Given the description of an element on the screen output the (x, y) to click on. 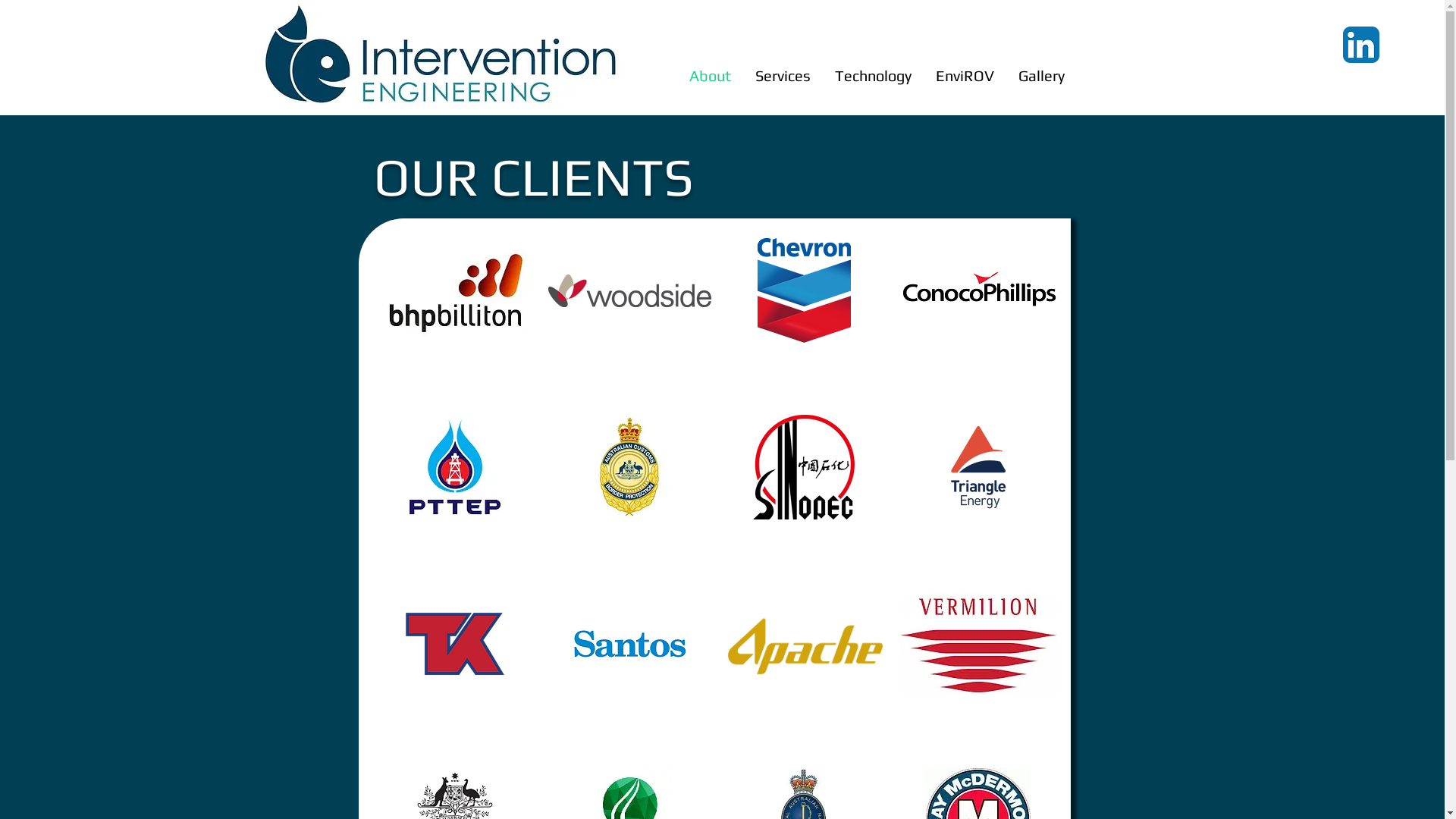
About Element type: text (709, 74)
Technology Element type: text (872, 74)
IE Logo.jpg Element type: hover (436, 57)
Gallery Element type: text (1040, 74)
EnviROV Element type: text (963, 74)
Services Element type: text (781, 74)
